Given the description of an element on the screen output the (x, y) to click on. 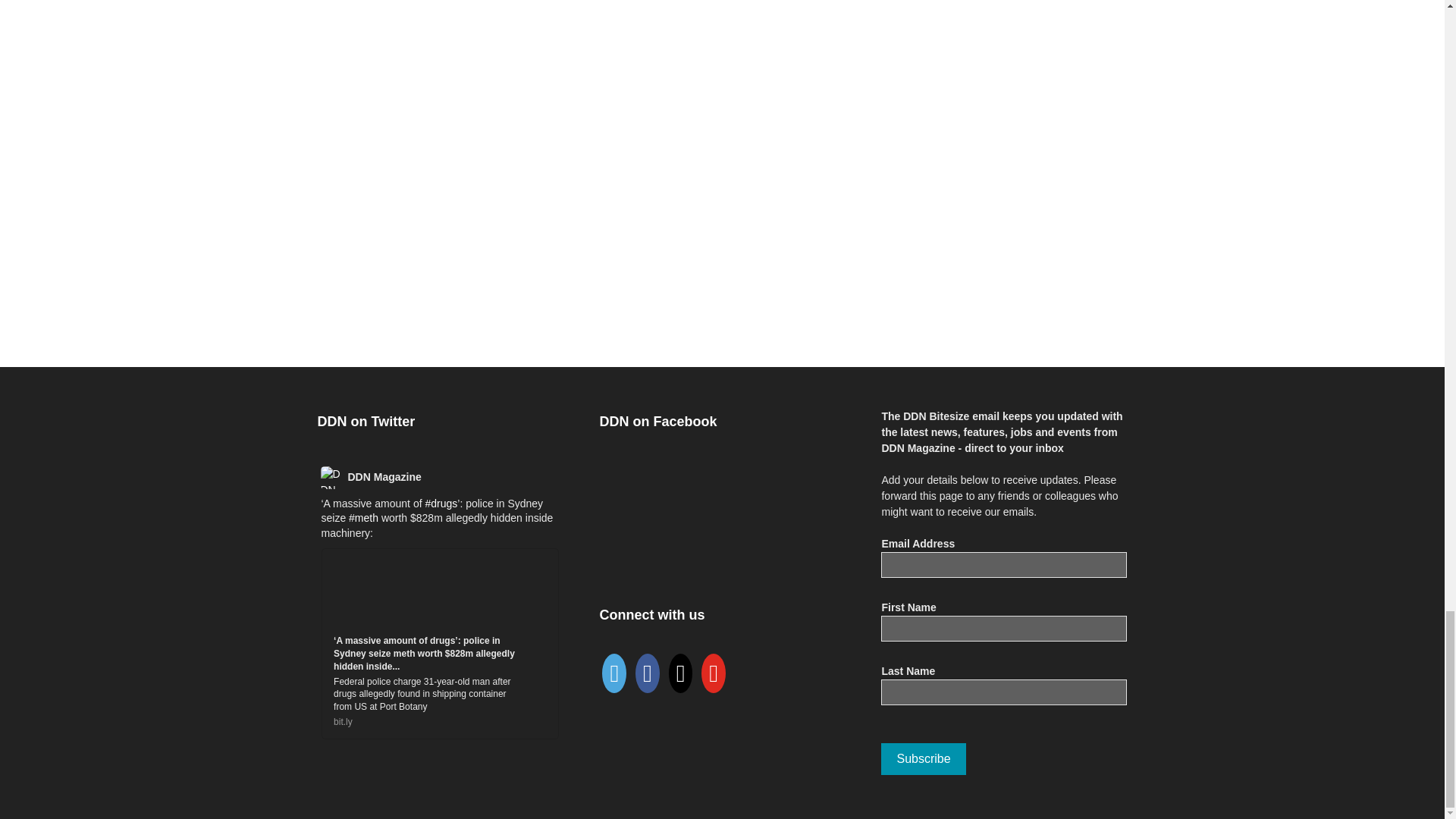
Subscribe (922, 757)
